Given the description of an element on the screen output the (x, y) to click on. 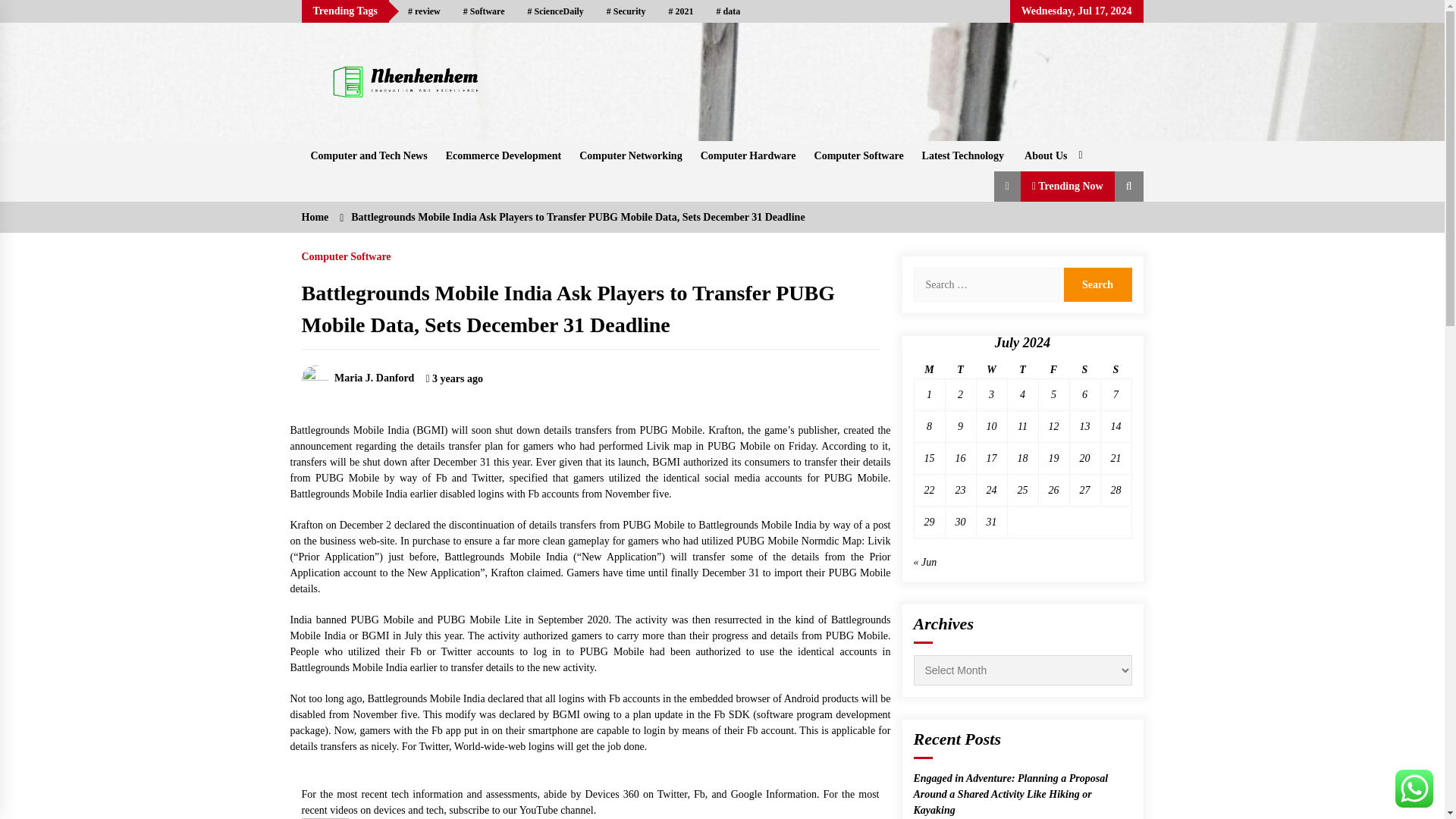
About Us (1051, 155)
Computer Networking (630, 155)
ScienceDaily (555, 11)
Software (483, 11)
Latest Technology (962, 155)
Friday (1053, 370)
Wednesday (991, 370)
review (423, 11)
Search (1096, 284)
Sunday (1115, 370)
Monday (929, 370)
Security (626, 11)
Search (1096, 284)
Computer Hardware (748, 155)
